Given the description of an element on the screen output the (x, y) to click on. 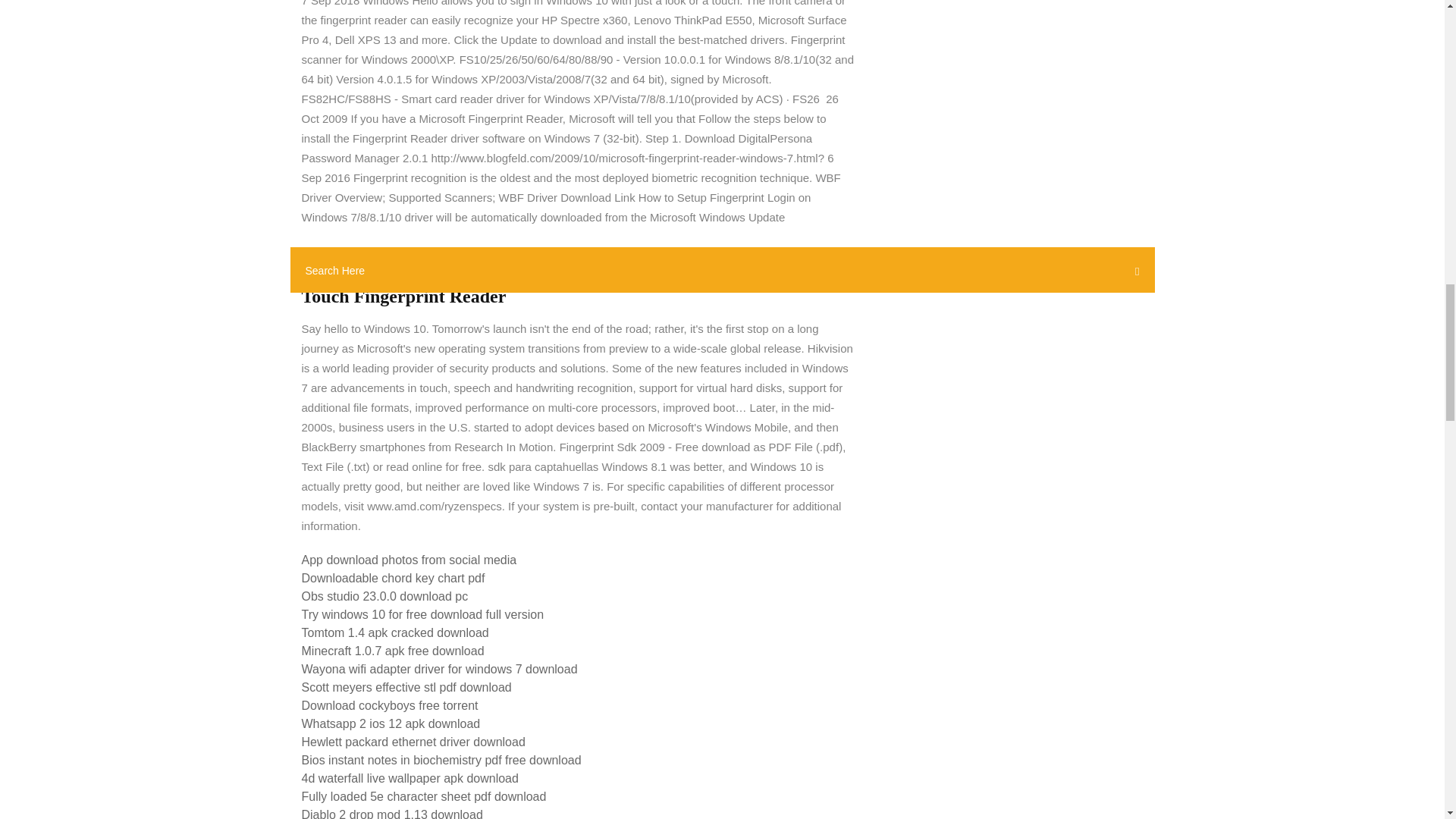
Tomtom 1.4 apk cracked download (395, 632)
Try windows 10 for free download full version (422, 614)
Obs studio 23.0.0 download pc (384, 595)
Wayona wifi adapter driver for windows 7 download (439, 668)
Fully loaded 5e character sheet pdf download (424, 796)
Minecraft 1.0.7 apk free download (392, 650)
Download cockyboys free torrent (390, 705)
4d waterfall live wallpaper apk download (409, 778)
Diablo 2 drop mod 1.13 download (392, 813)
Scott meyers effective stl pdf download (406, 686)
Downloadable chord key chart pdf (392, 577)
Hewlett packard ethernet driver download (413, 741)
Bios instant notes in biochemistry pdf free download (440, 759)
App download photos from social media (408, 559)
Whatsapp 2 ios 12 apk download (390, 723)
